Given the description of an element on the screen output the (x, y) to click on. 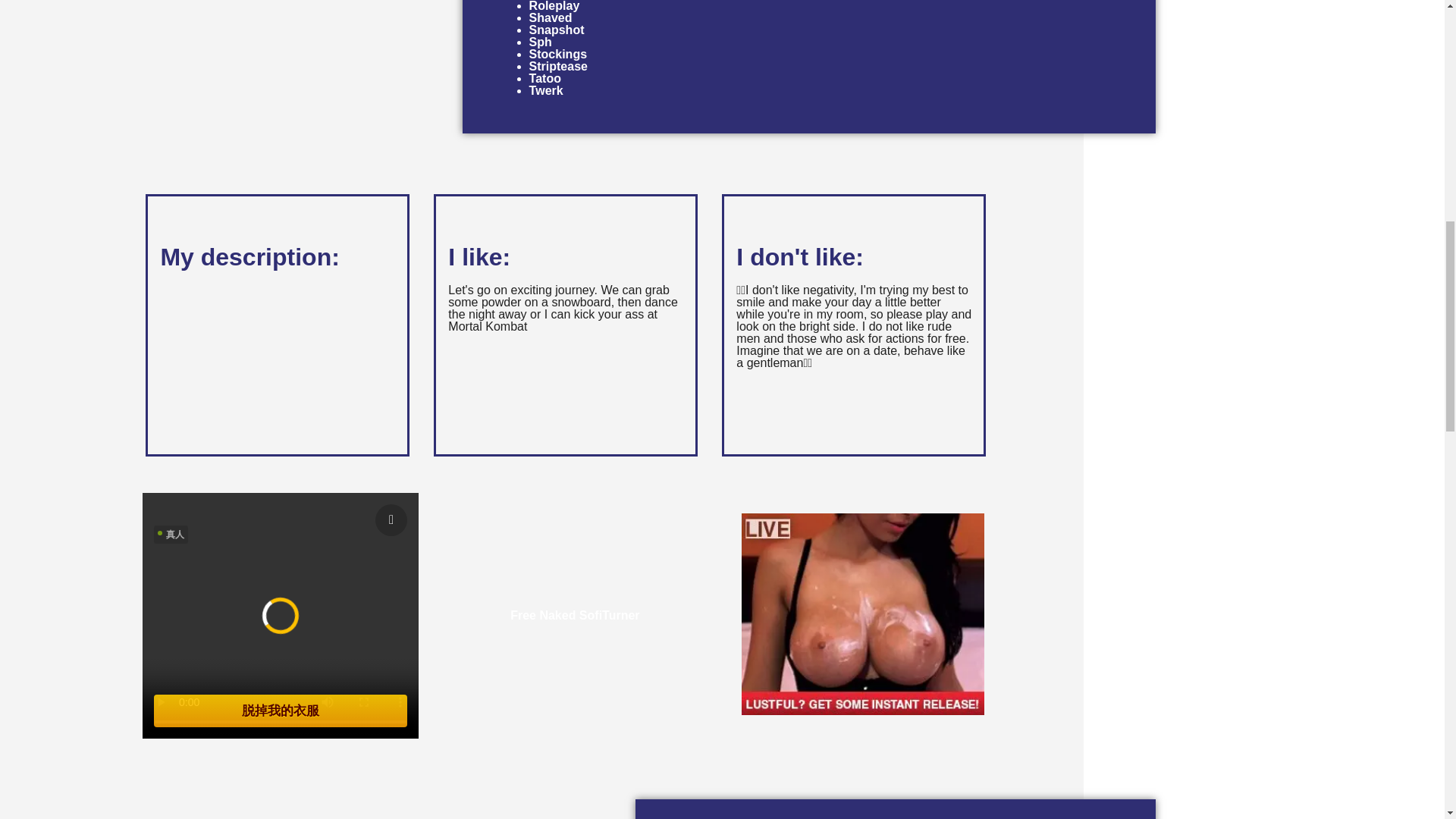
Striptease (558, 65)
Tatoo (544, 78)
Sph (540, 42)
Free Naked SofiTurner (575, 615)
Roleplay (554, 6)
Roleplay (554, 6)
Shaved (550, 17)
Stockings (557, 53)
Twerk (546, 90)
Shaved (550, 17)
Snapshot (557, 29)
